Given the description of an element on the screen output the (x, y) to click on. 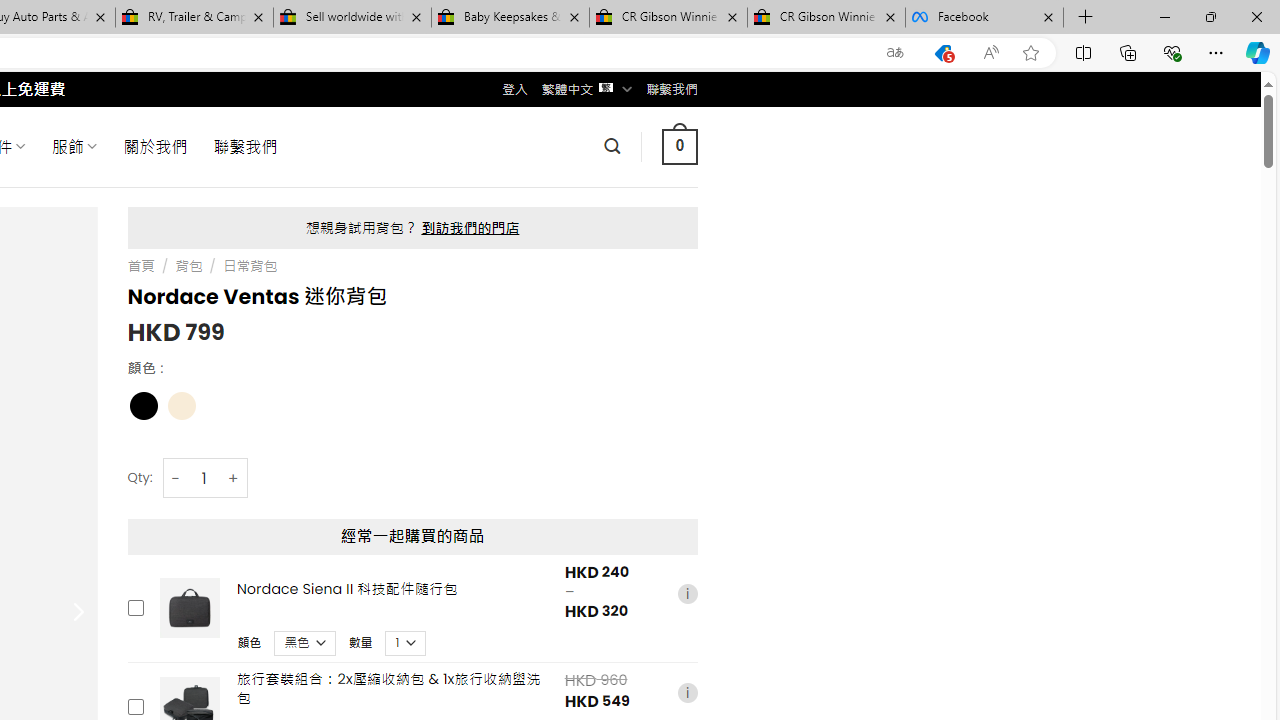
Show translate options (895, 53)
RV, Trailer & Camper Steps & Ladders for sale | eBay (194, 17)
i (687, 691)
Baby Keepsakes & Announcements for sale | eBay (509, 17)
 0  (679, 146)
